Given the description of an element on the screen output the (x, y) to click on. 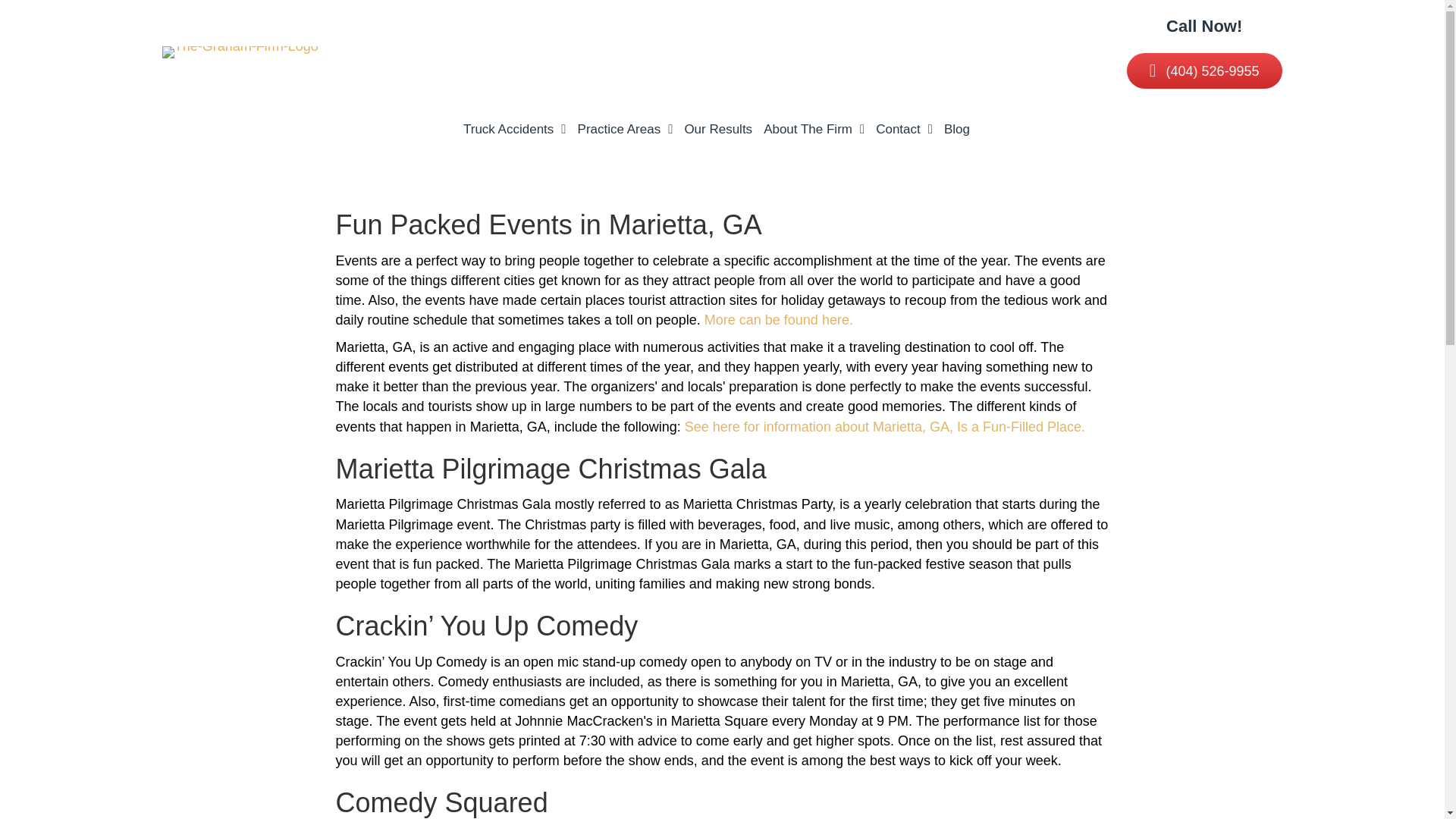
The-Graham-Firm-Logo 200px (239, 51)
